Given the description of an element on the screen output the (x, y) to click on. 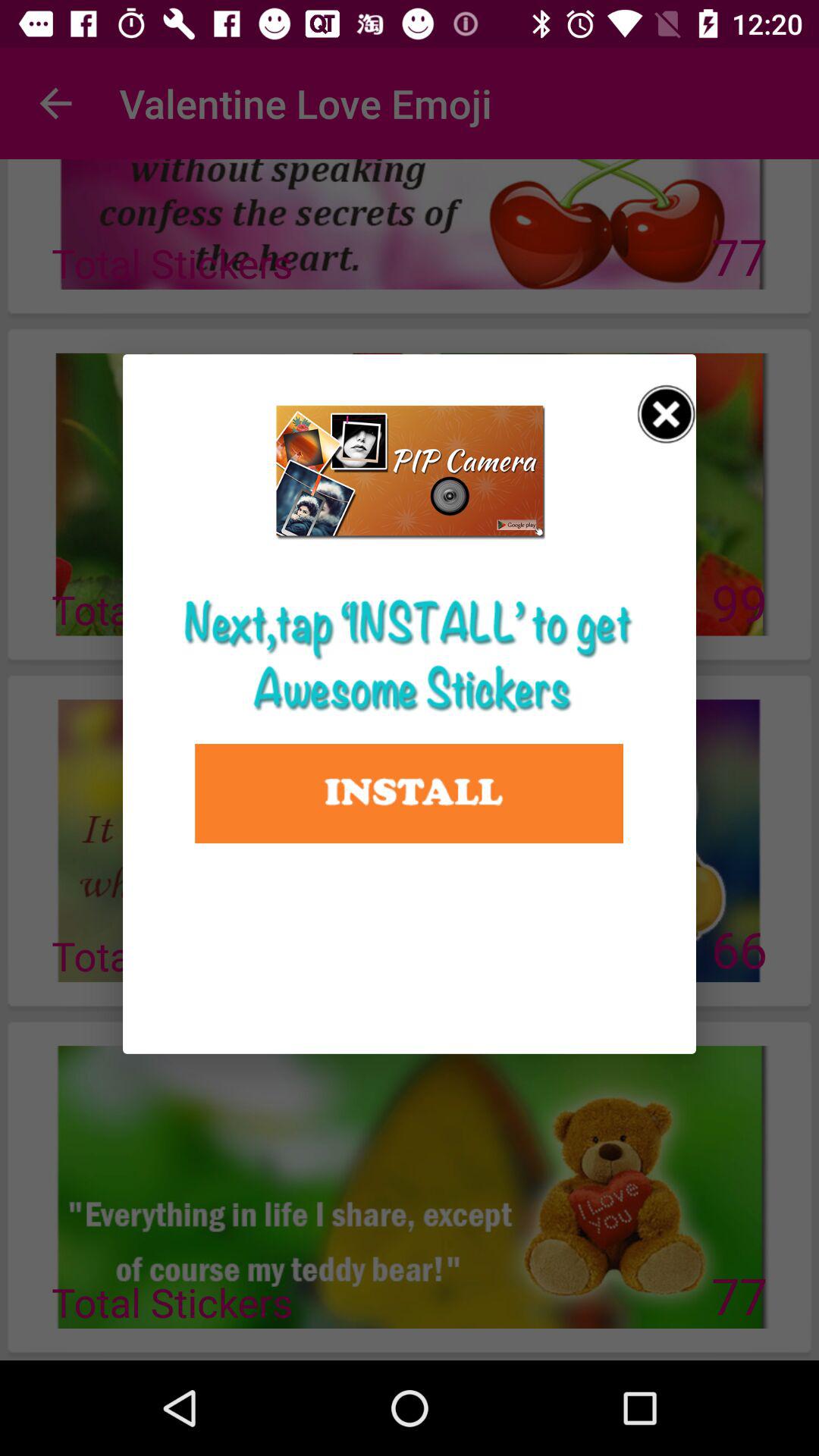
press to close the box (666, 414)
